Given the description of an element on the screen output the (x, y) to click on. 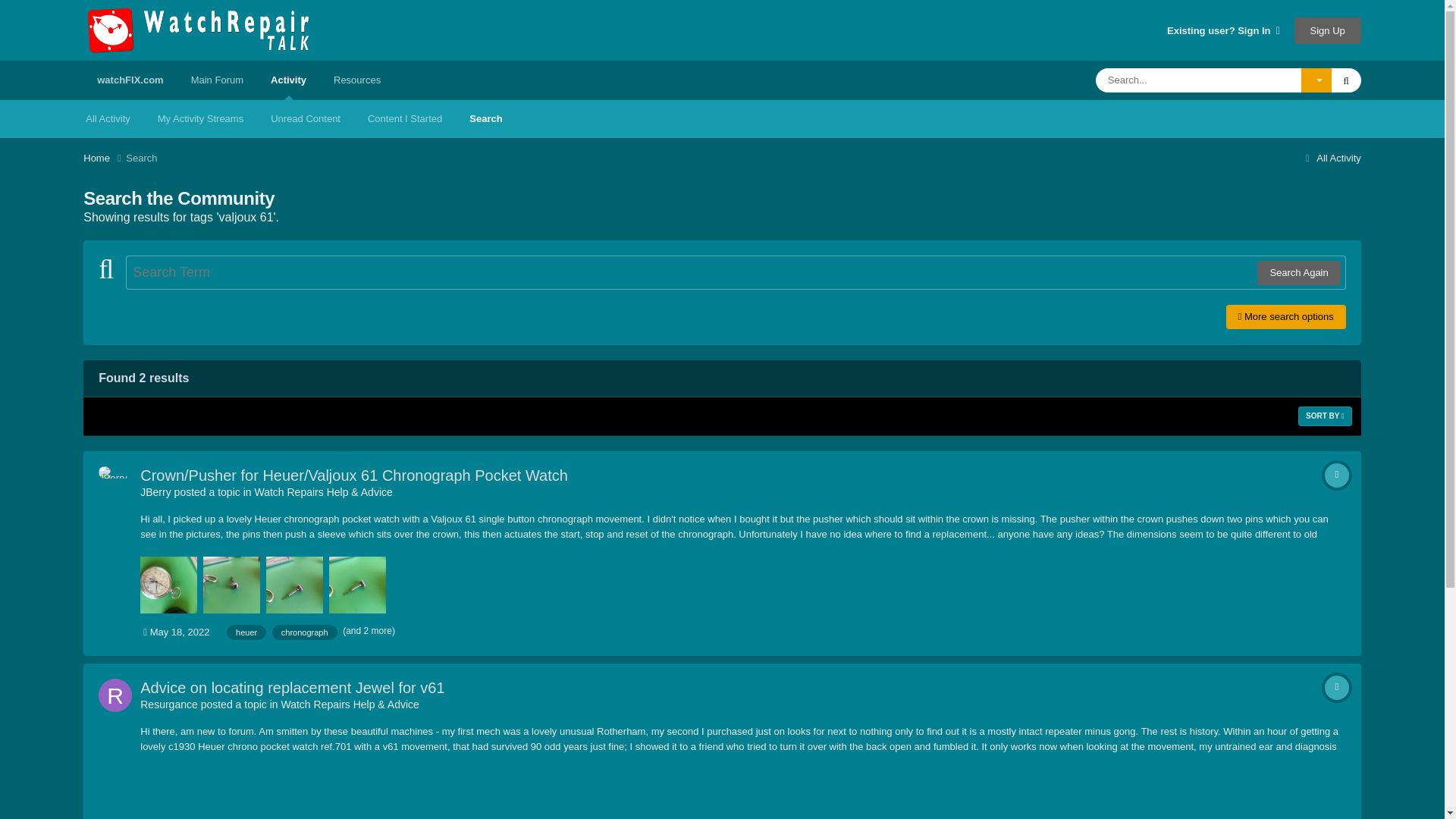
Go to Resurgance's profile (168, 704)
Sign Up (1326, 29)
Go to JBerry's profile (154, 491)
Existing user? Sign In   (1223, 30)
watchFIX.com (129, 79)
Topic (1336, 687)
My Activity Streams (200, 118)
Topic (1336, 475)
Home (103, 158)
Main Forum (217, 79)
Search (485, 118)
Unread Content (305, 118)
Content I Started (404, 118)
Find other content tagged with 'chronograph' (304, 631)
Find other content tagged with 'heuer' (246, 631)
